Given the description of an element on the screen output the (x, y) to click on. 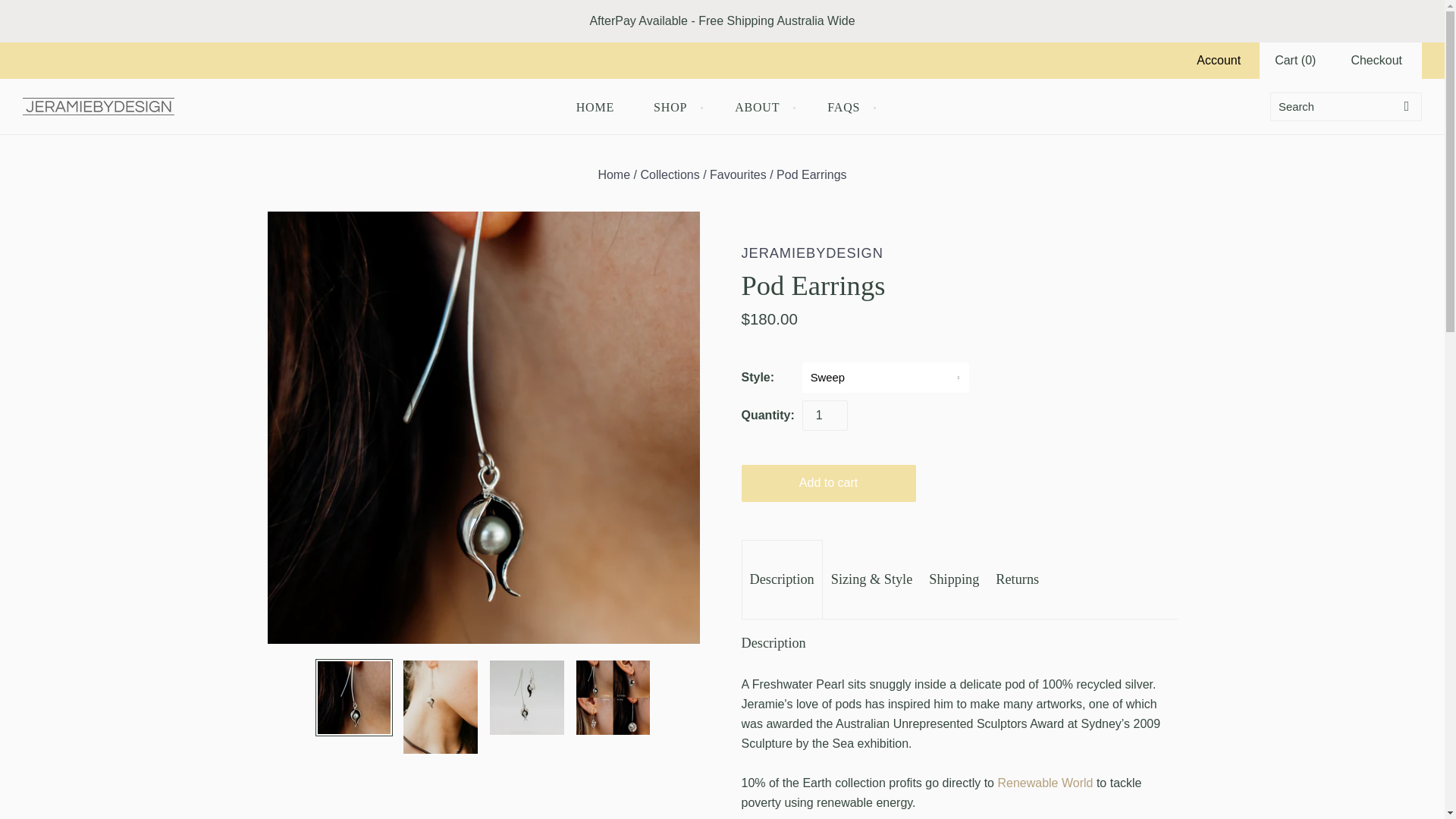
Renewable World (1045, 782)
Account (1218, 60)
1 (824, 415)
Checkout (1375, 60)
AfterPay Available - Free Shipping Australia Wide (722, 21)
Add to cart (828, 483)
HOME (594, 106)
Collections (669, 174)
Home (613, 174)
